Given the description of an element on the screen output the (x, y) to click on. 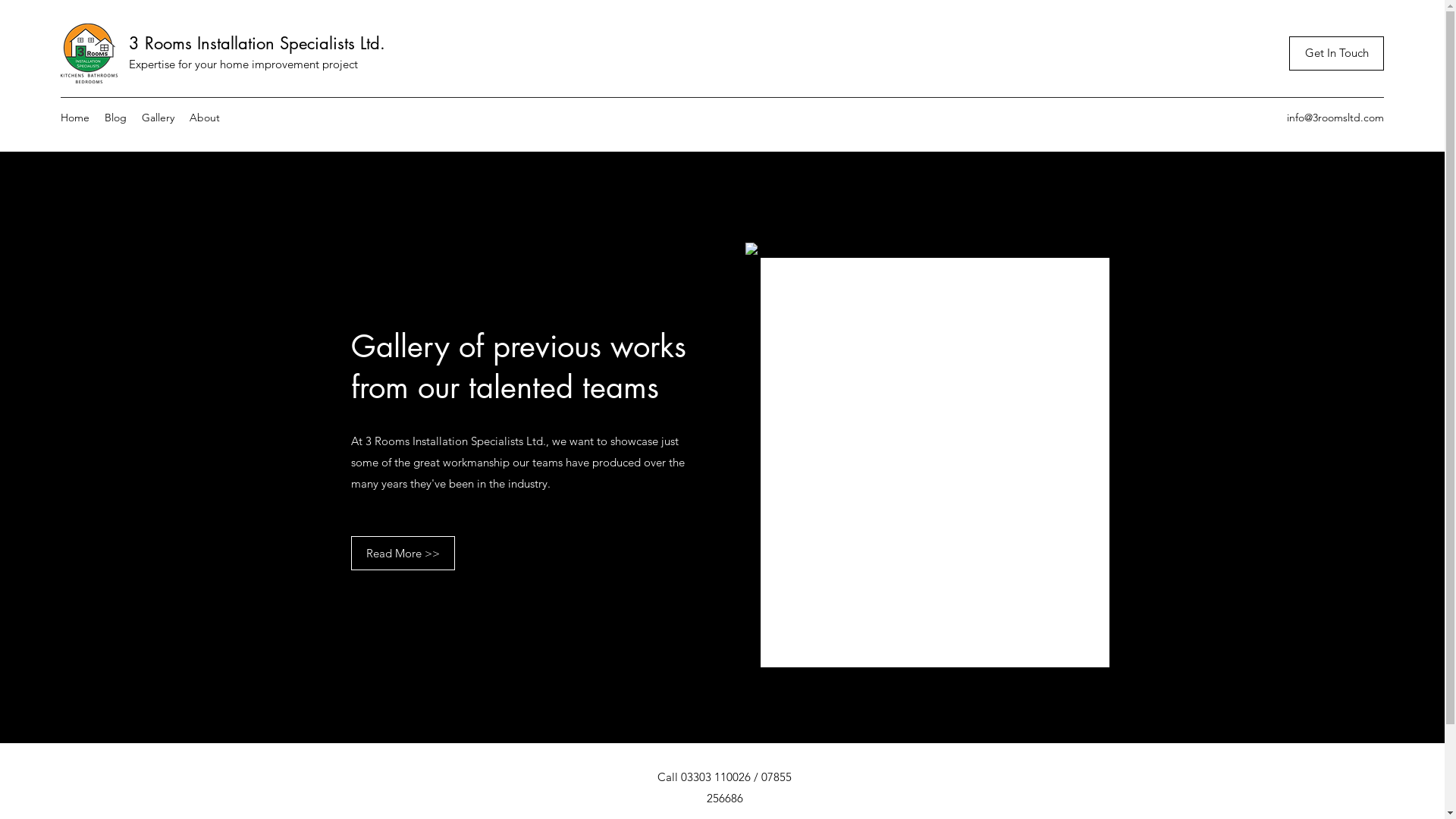
info@3roomsltd.com Element type: text (1334, 117)
Gallery Element type: text (158, 117)
Home Element type: text (75, 117)
Get In Touch Element type: text (1336, 53)
Blog Element type: text (115, 117)
About Element type: text (204, 117)
3 Rooms Installation Specialists Ltd Element type: text (253, 42)
